Given the description of an element on the screen output the (x, y) to click on. 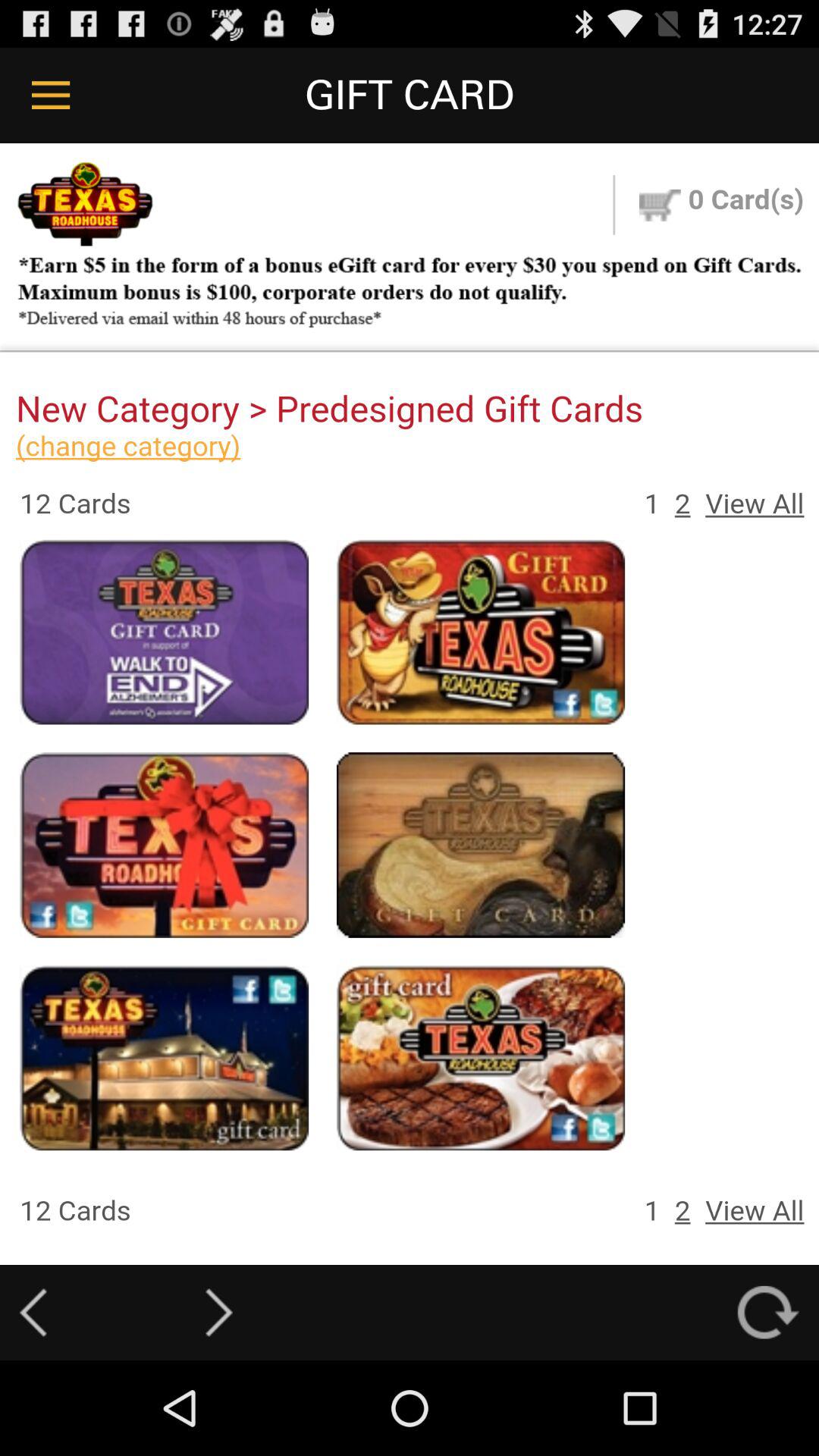
go to next (218, 1312)
